Given the description of an element on the screen output the (x, y) to click on. 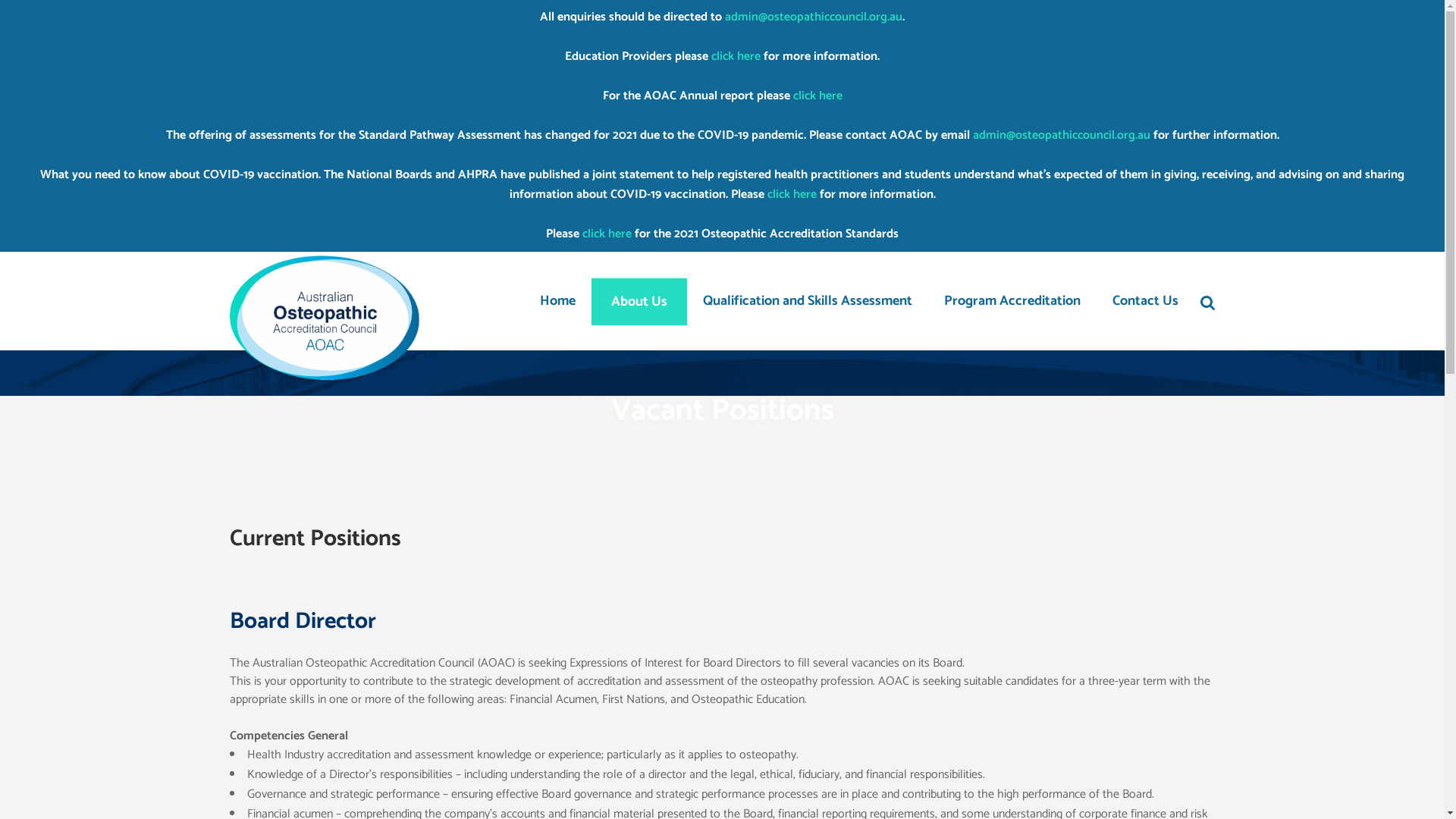
About Us Element type: text (639, 300)
Home Element type: text (556, 300)
click here Element type: text (791, 194)
Qualification and Skills Assessment Element type: text (807, 300)
click here Element type: text (817, 95)
admin@osteopathiccouncil.org.au Element type: text (1060, 135)
Contact Us Element type: text (1145, 300)
click here Element type: text (606, 233)
Program Accreditation Element type: text (1012, 300)
admin@osteopathiccouncil.org.au Element type: text (813, 16)
click here Element type: text (735, 56)
